Given the description of an element on the screen output the (x, y) to click on. 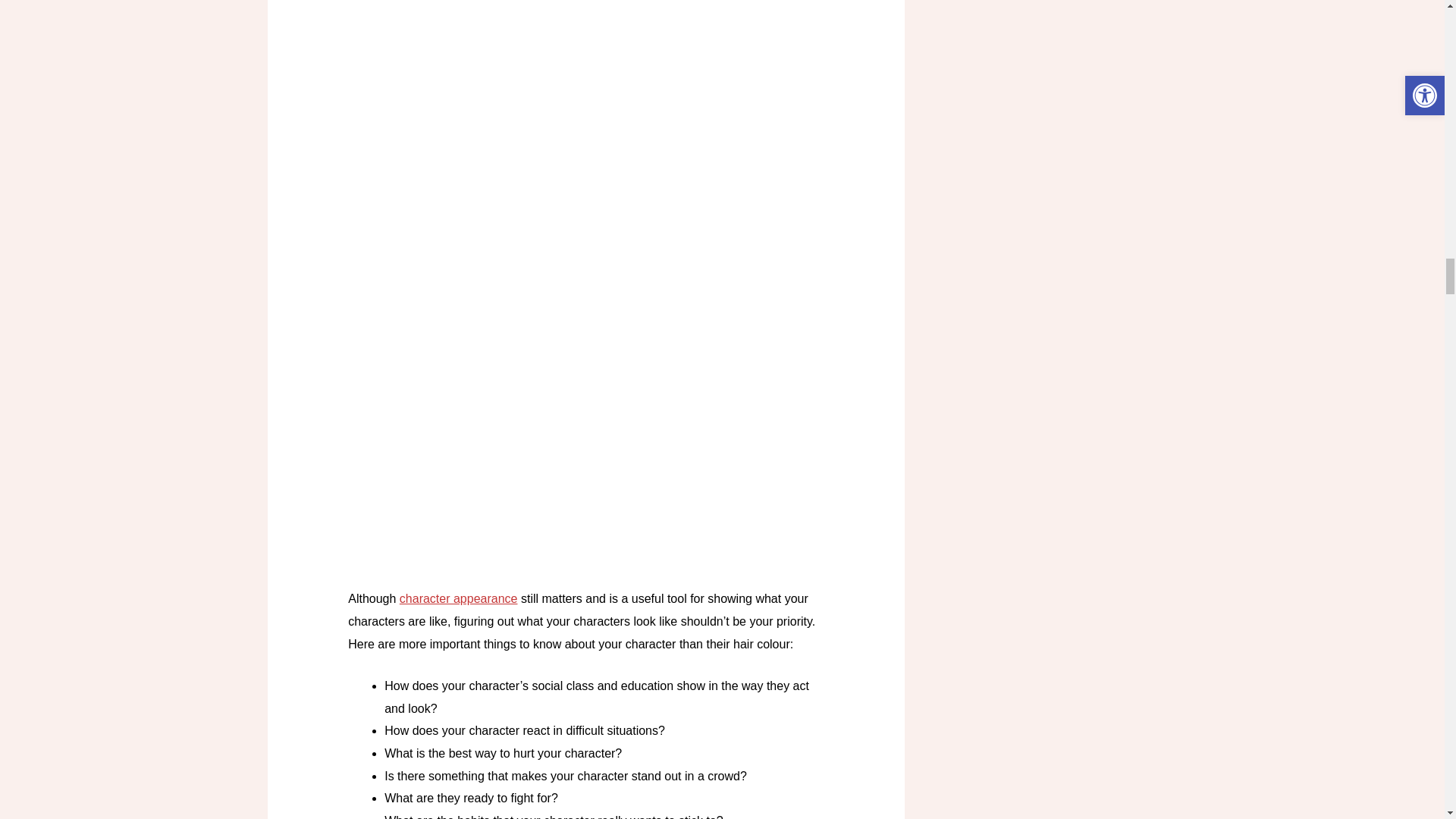
character appearance (458, 598)
character appearance (458, 598)
